Given the description of an element on the screen output the (x, y) to click on. 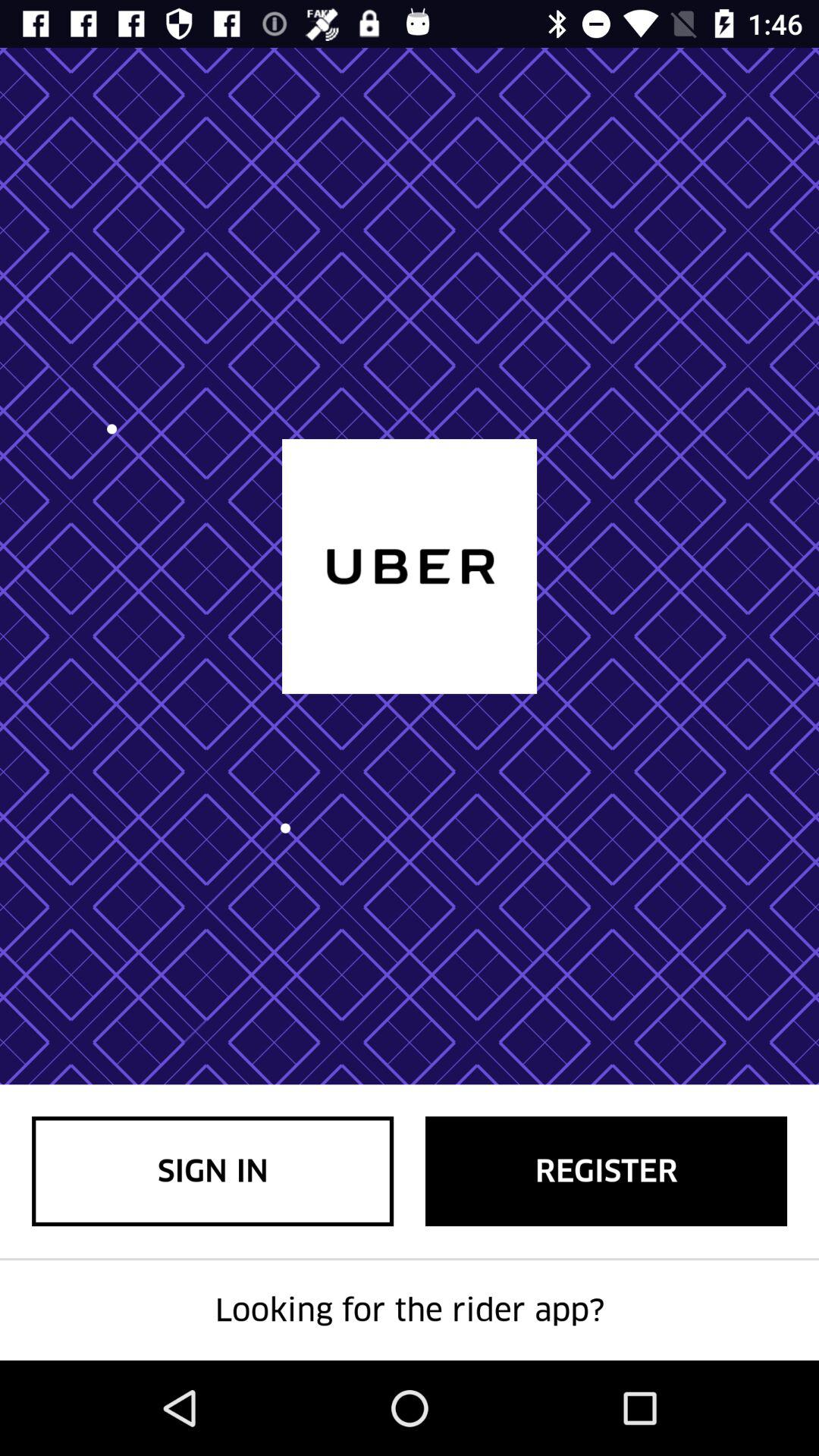
open register at the bottom right corner (606, 1171)
